Given the description of an element on the screen output the (x, y) to click on. 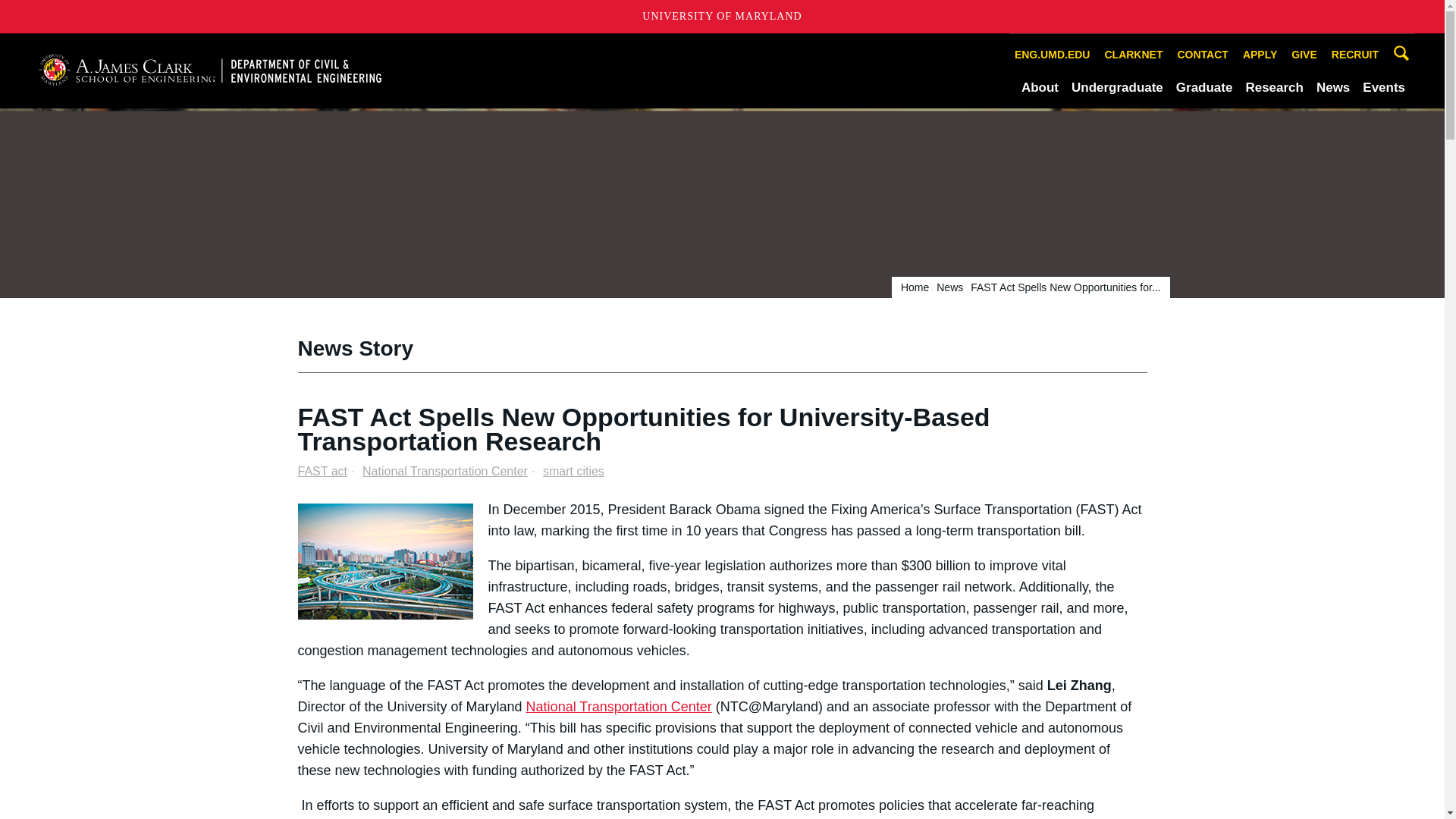
CLARKNET (1133, 54)
About (1040, 87)
A. James Clark School of Engineering, University of Maryland (209, 69)
Undergraduate (1117, 87)
UNIVERSITY OF MARYLAND (722, 16)
CONTACT (1202, 54)
APPLY (1259, 54)
RECRUIT (1355, 54)
GIVE (1303, 54)
ENG.UMD.EDU (1052, 54)
